Given the description of an element on the screen output the (x, y) to click on. 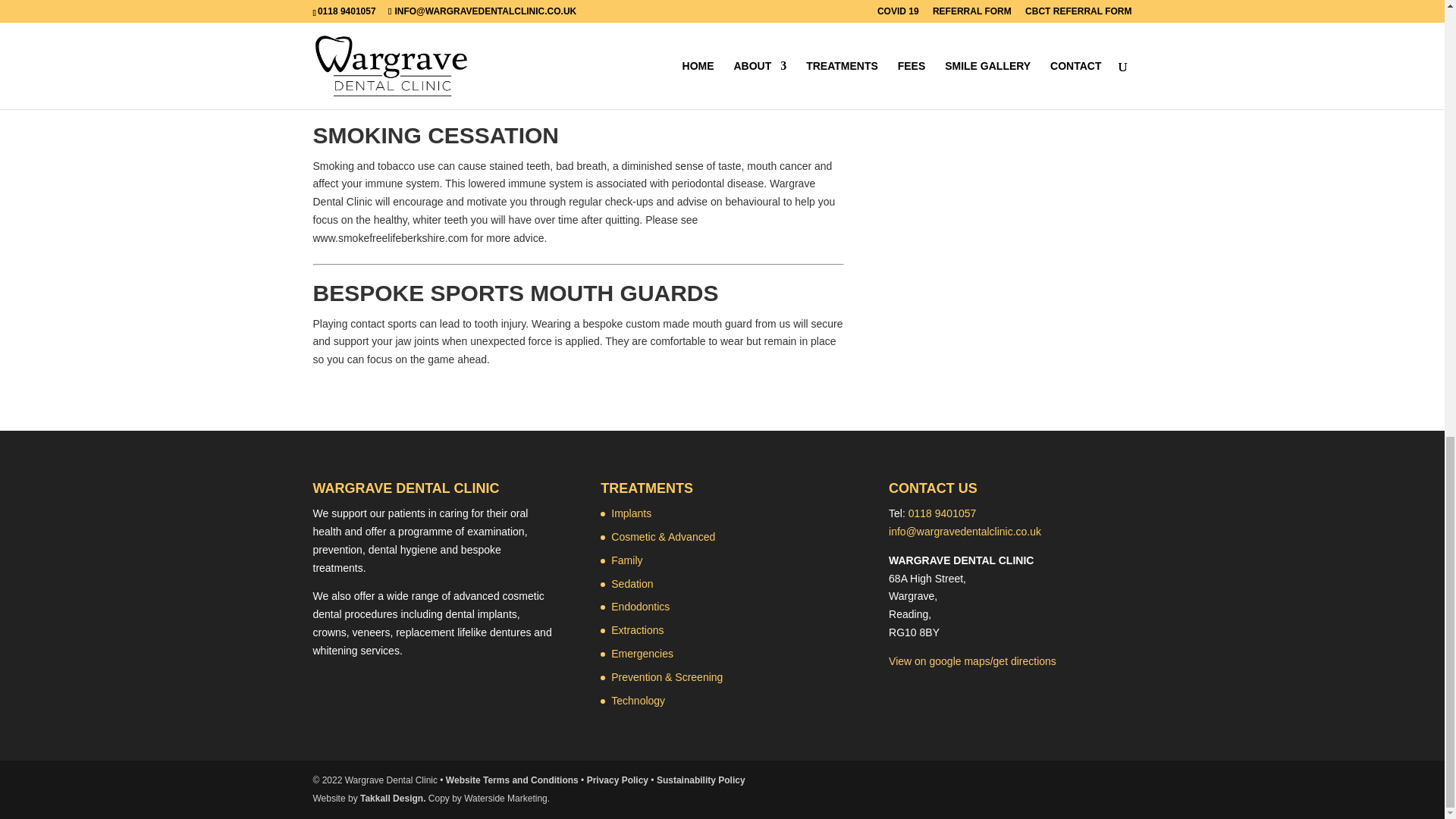
Privacy Policy (616, 779)
Technology (638, 700)
Family (626, 560)
Website Terms and Conditions (511, 779)
Extractions (637, 630)
Endodontics (640, 606)
Implants (630, 512)
0118 9401057 (942, 512)
Sedation (631, 583)
Emergencies (641, 653)
